Given the description of an element on the screen output the (x, y) to click on. 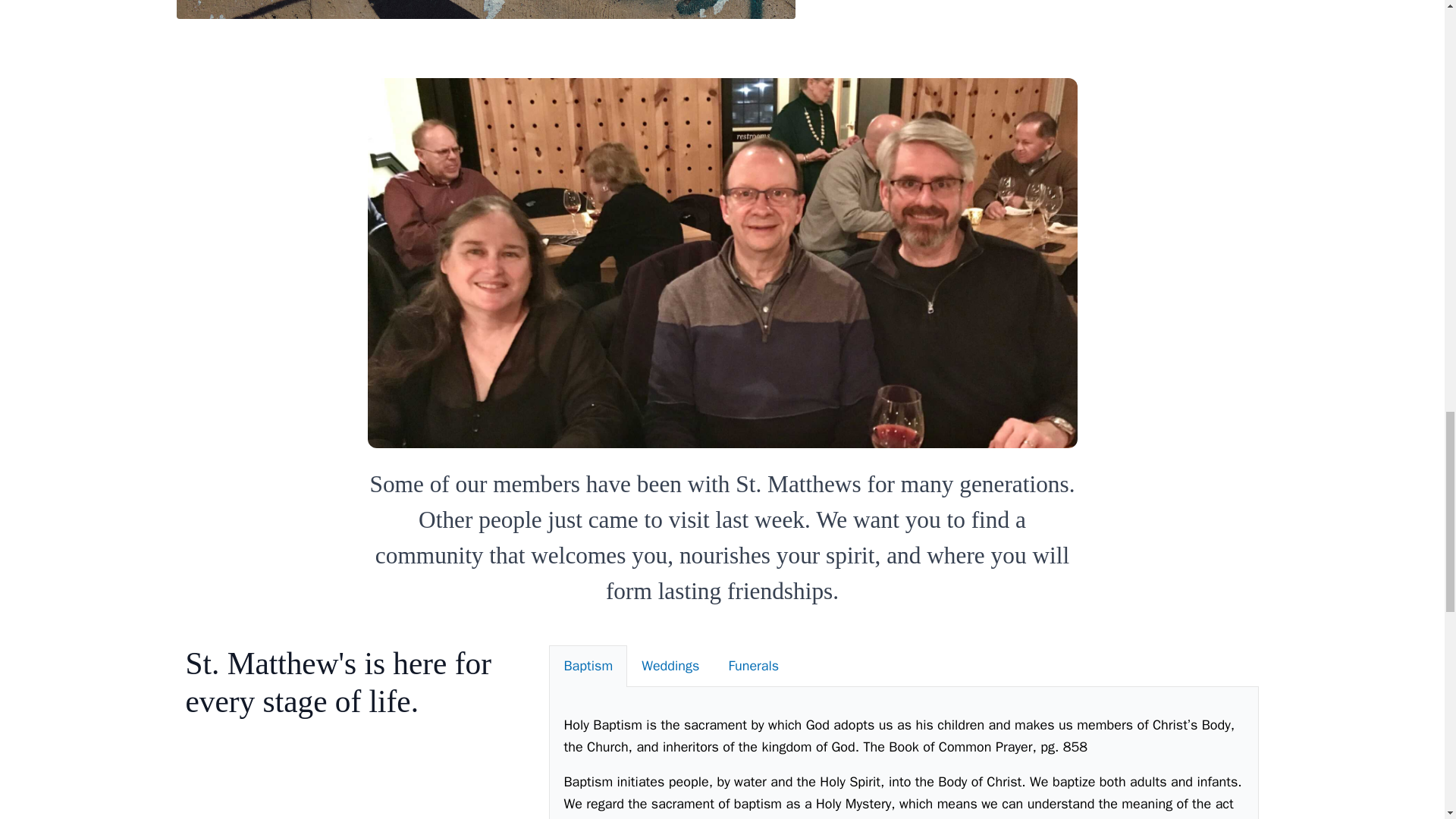
Weddings (670, 665)
Funerals (753, 665)
Baptism (587, 665)
